Given the description of an element on the screen output the (x, y) to click on. 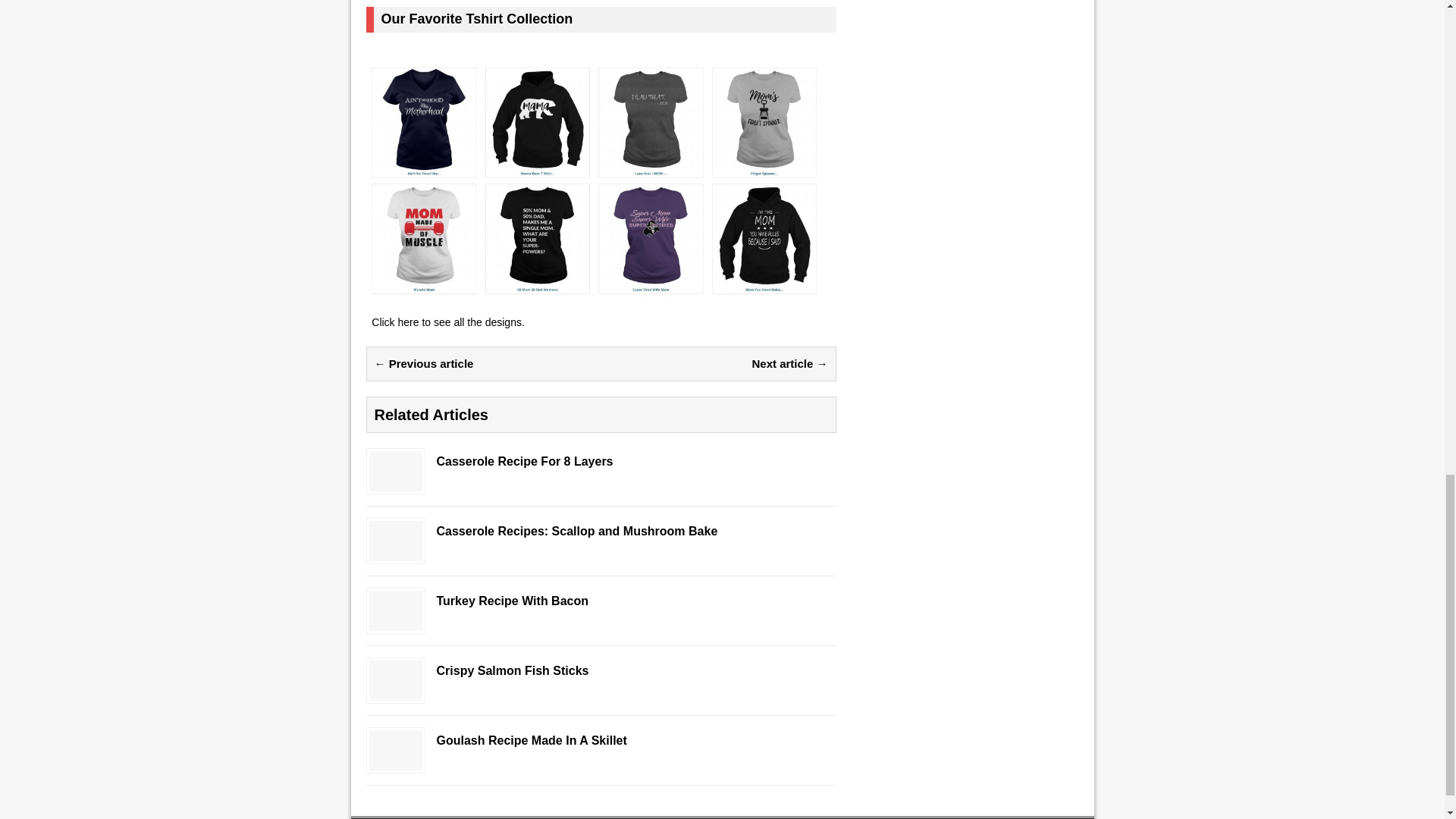
Casserole Recipe For 8 Layers (600, 462)
Turkey Recipe With Bacon (600, 601)
Turkey Recipe With Bacon (395, 621)
Goulash Recipe Made In A Skillet (395, 761)
Casserole Recipes: Scallop and Mushroom Bake (600, 531)
Casserole Recipes: Scallop and Mushroom Bake (395, 551)
Click here to see all the designs (446, 322)
Casserole Recipe For 8 Layers (395, 481)
Goulash Recipe Made In A Skillet (600, 741)
Crispy Salmon Fish Sticks (600, 671)
